Given the description of an element on the screen output the (x, y) to click on. 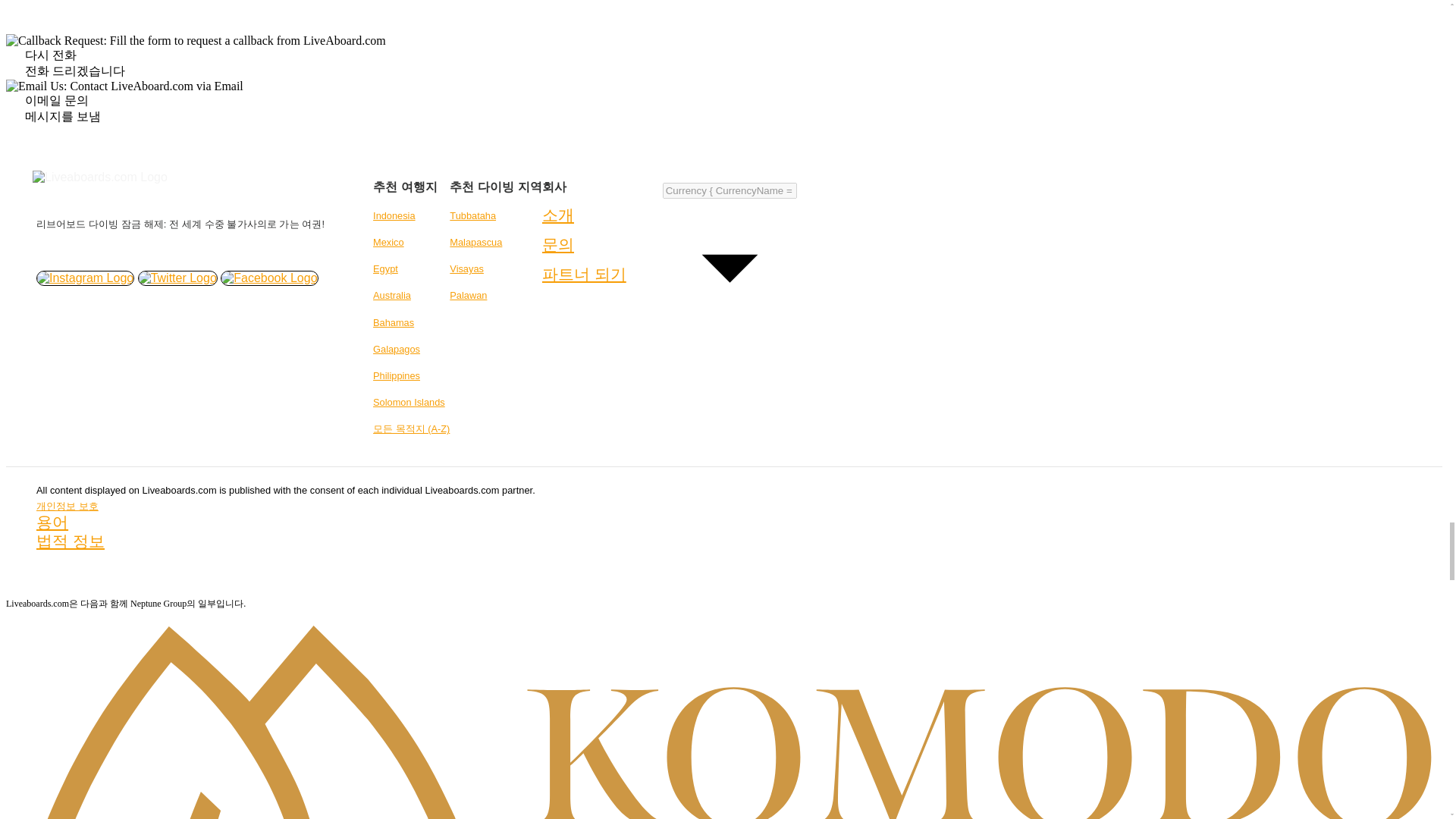
Mexico (388, 242)
Galapagos (396, 348)
Egypt (384, 268)
Tubbataha (472, 215)
Indonesia (393, 215)
Visayas (466, 268)
Bahamas (392, 322)
Australia (391, 295)
Palawan (467, 295)
Philippines (396, 375)
